Given the description of an element on the screen output the (x, y) to click on. 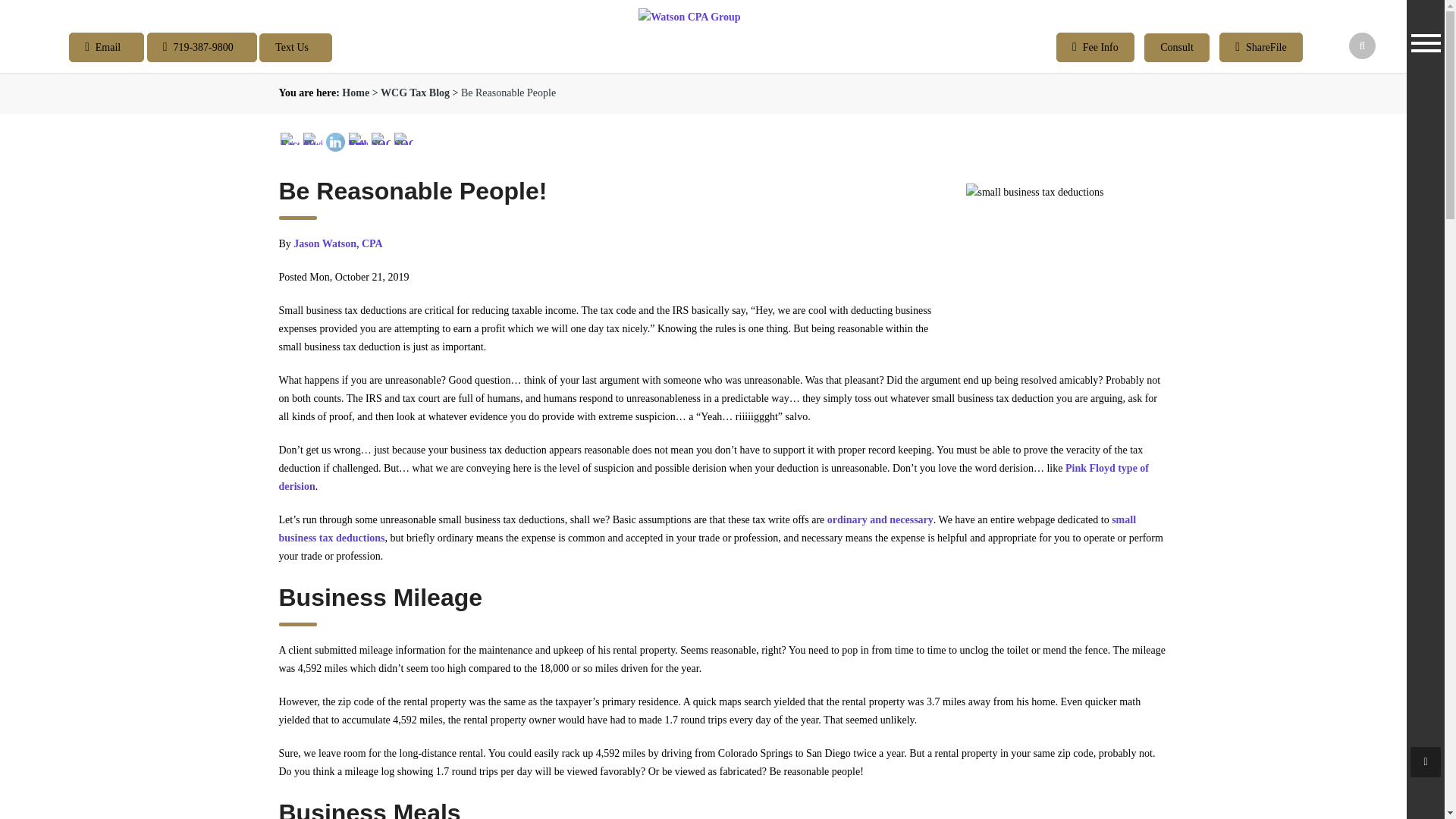
Facebook (290, 138)
small business tax deductions (708, 528)
Follow by Email (358, 138)
719-387-9800 (202, 47)
LinkedIn (335, 141)
Pink Floyd type of derision (714, 477)
Jason Watson, CPA (337, 243)
Fee Info (1095, 47)
ordinary and necessary (880, 519)
WCG CPAs (355, 92)
